Given the description of an element on the screen output the (x, y) to click on. 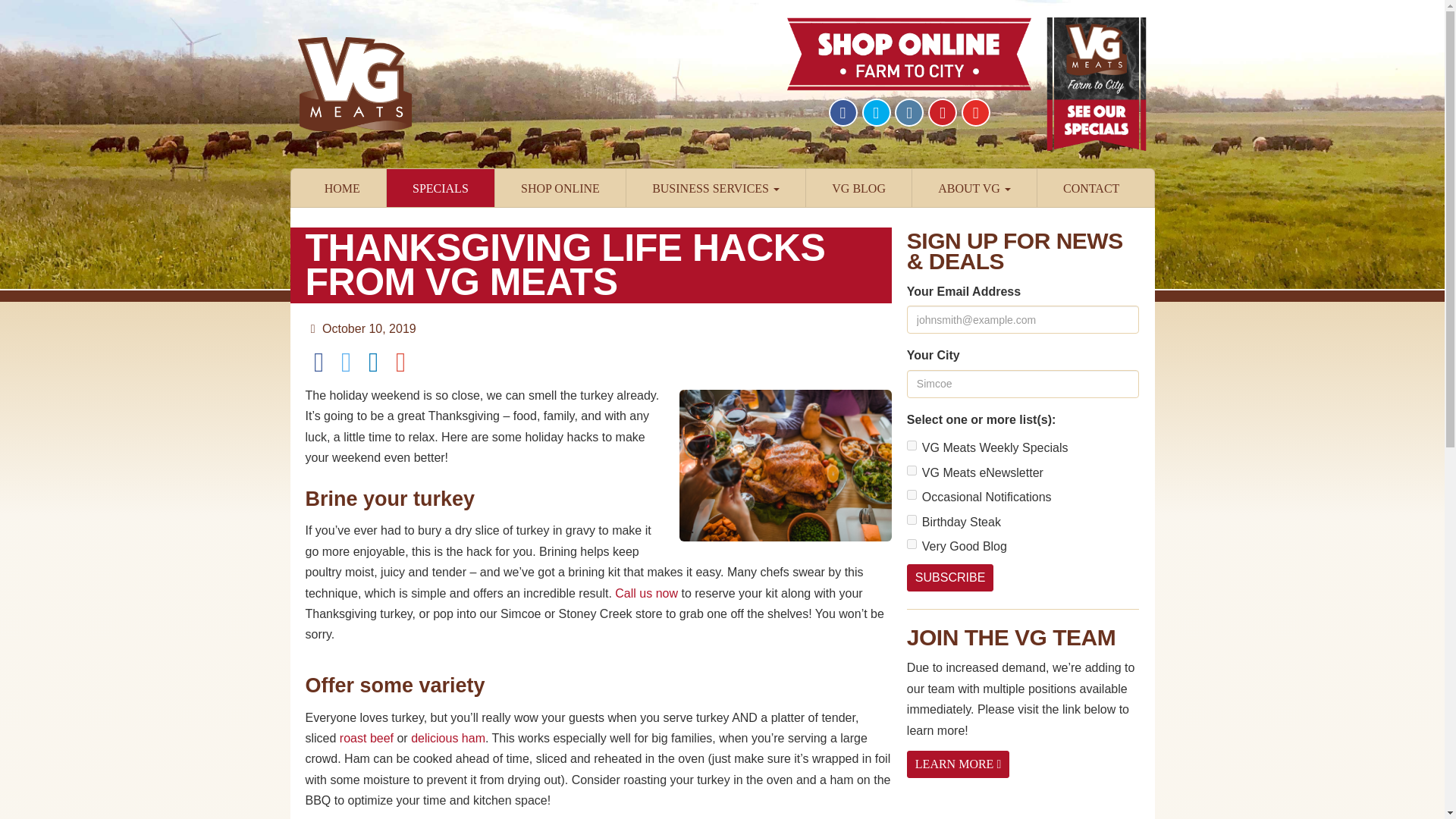
8 (912, 519)
ABOUT VG (974, 187)
Share on LinkedIn (373, 361)
SPECIALS (441, 187)
1 (912, 445)
HOME (341, 187)
SHOP ONLINE (560, 187)
16 (912, 543)
VG BLOG (858, 187)
Subscribe (949, 577)
roast beef (366, 738)
BUSINESS SERVICES (715, 187)
4 (912, 494)
2 (912, 470)
Call us now (646, 593)
